Given the description of an element on the screen output the (x, y) to click on. 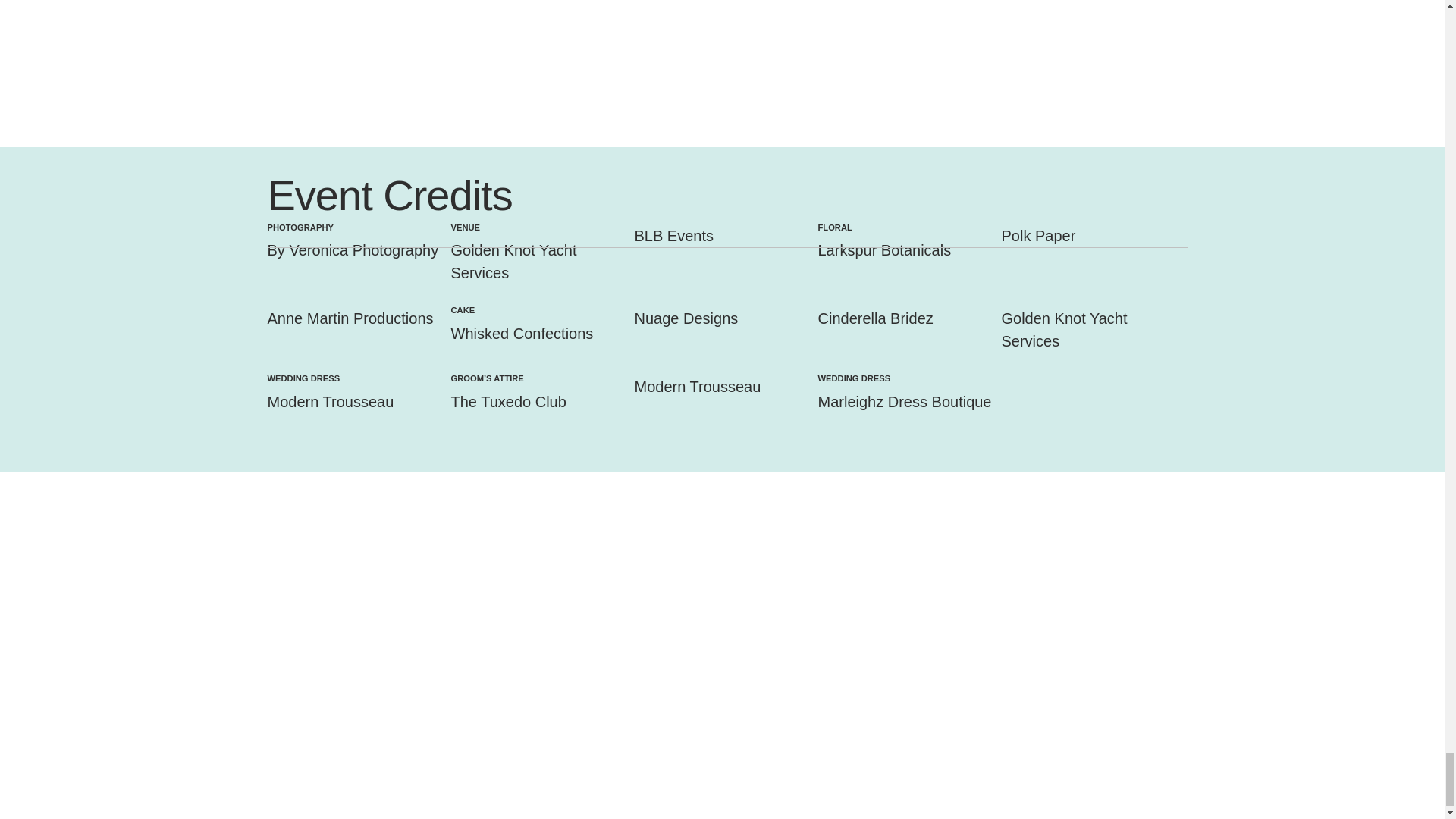
Modern Trousseau (696, 386)
Golden Knot Yacht Services (512, 261)
Modern Trousseau (329, 401)
BLB Events (673, 235)
By Veronica Photography (352, 249)
Whisked Confections (520, 333)
The Tuxedo Club (507, 401)
Cinderella Bridez (874, 318)
Golden Knot Yacht Services (1063, 329)
Marleighz Dress Boutique (903, 401)
Polk Paper (1038, 235)
Larkspur Botanicals (883, 249)
Nuage Designs (685, 318)
Anne Martin Productions (349, 318)
